Given the description of an element on the screen output the (x, y) to click on. 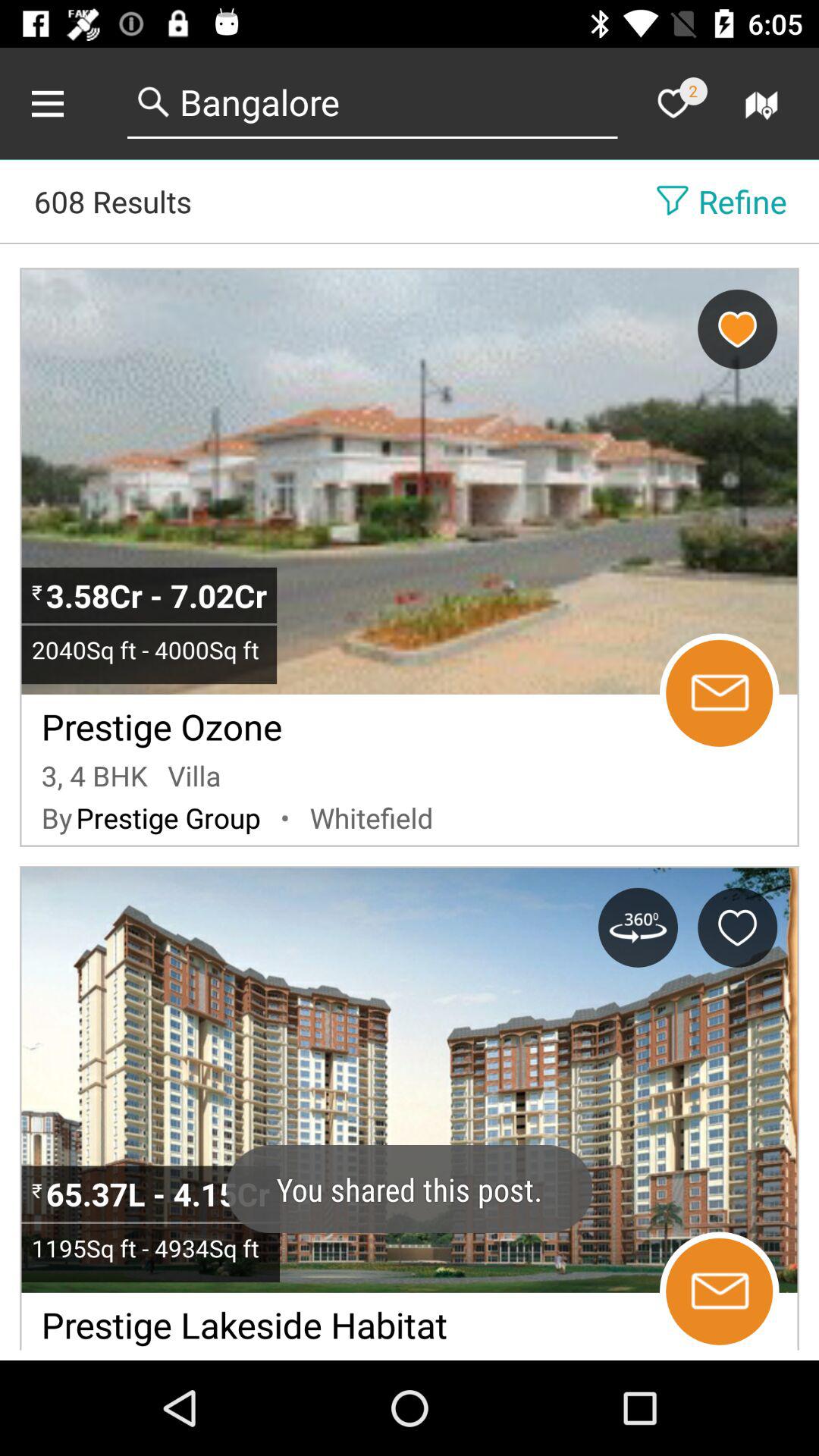
favorite this option (737, 927)
